Given the description of an element on the screen output the (x, y) to click on. 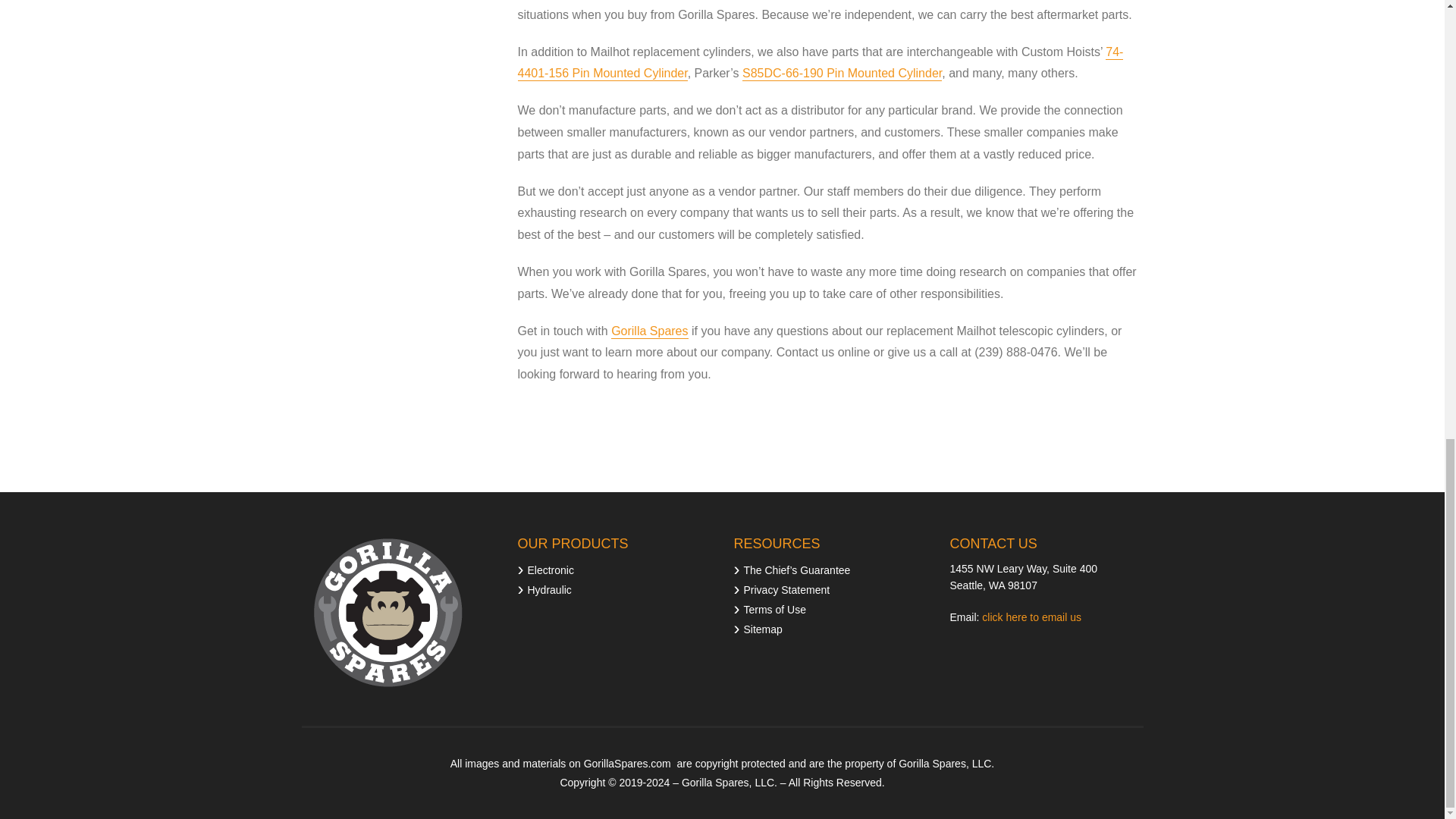
Gorilla Spares (649, 331)
Electronic (544, 568)
74-4401-156 Pin Mounted Cylinder (819, 63)
S85DC-66-190 Pin Mounted Cylinder (842, 73)
